Given the description of an element on the screen output the (x, y) to click on. 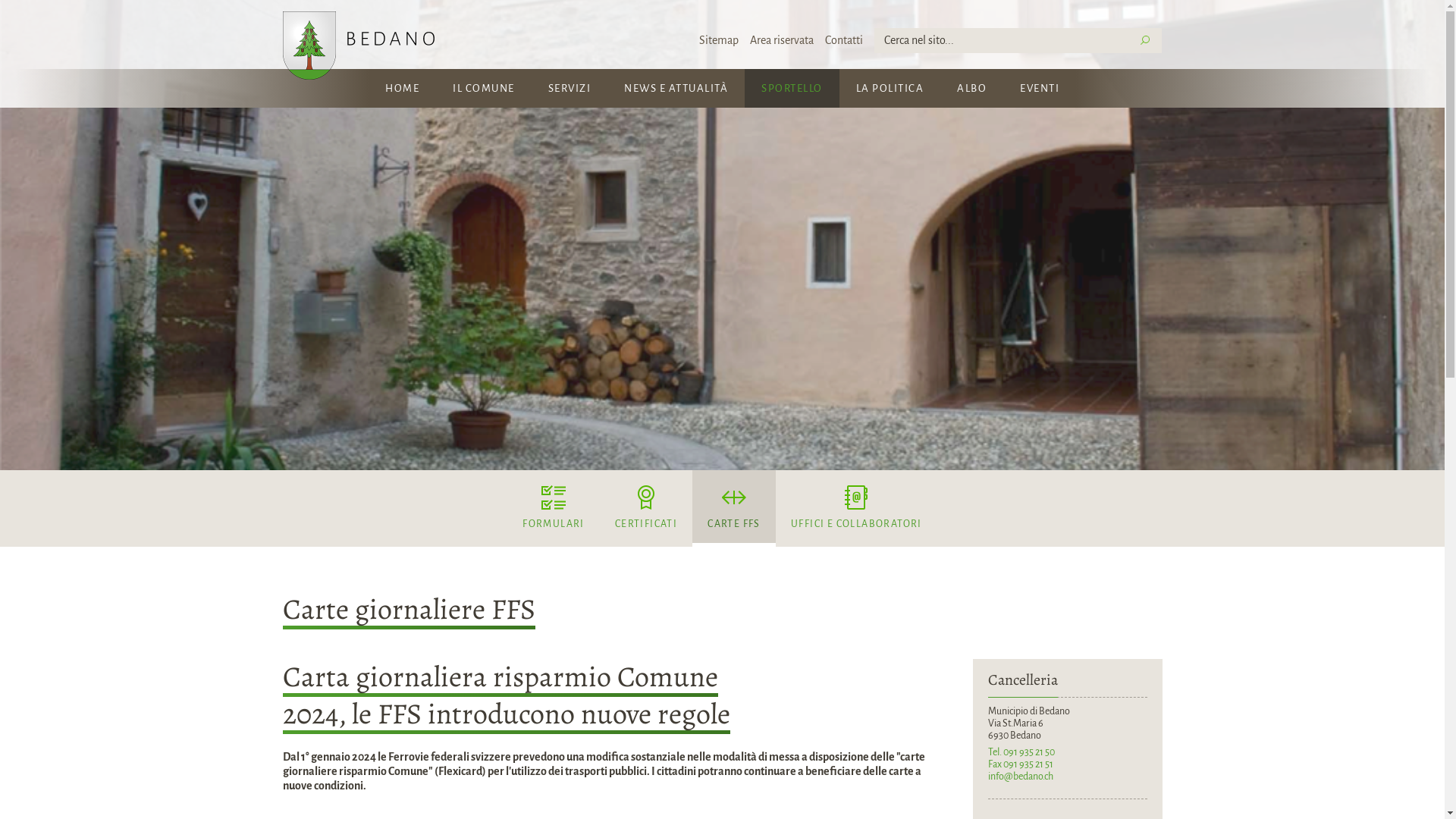
Tel. 091 935 21 50 Element type: text (1020, 751)
HOME Element type: text (402, 88)
CARTE FFS Element type: text (733, 508)
SPORTELLO Element type: text (791, 88)
FORMULARI Element type: text (553, 508)
Contatti Element type: text (843, 40)
LA POLITICA Element type: text (889, 88)
Sitemap Element type: text (718, 40)
ALBO Element type: text (971, 88)
UFFICI E COLLABORATORI Element type: text (856, 508)
EVENTI Element type: text (1039, 88)
SERVIZI Element type: text (568, 88)
CERTIFICATI Element type: text (645, 508)
IL COMUNE Element type: text (483, 88)
info@bedano.ch Element type: text (1019, 776)
Fax 091 935 21 51 Element type: text (1019, 764)
Area riservata Element type: text (781, 40)
